Given the description of an element on the screen output the (x, y) to click on. 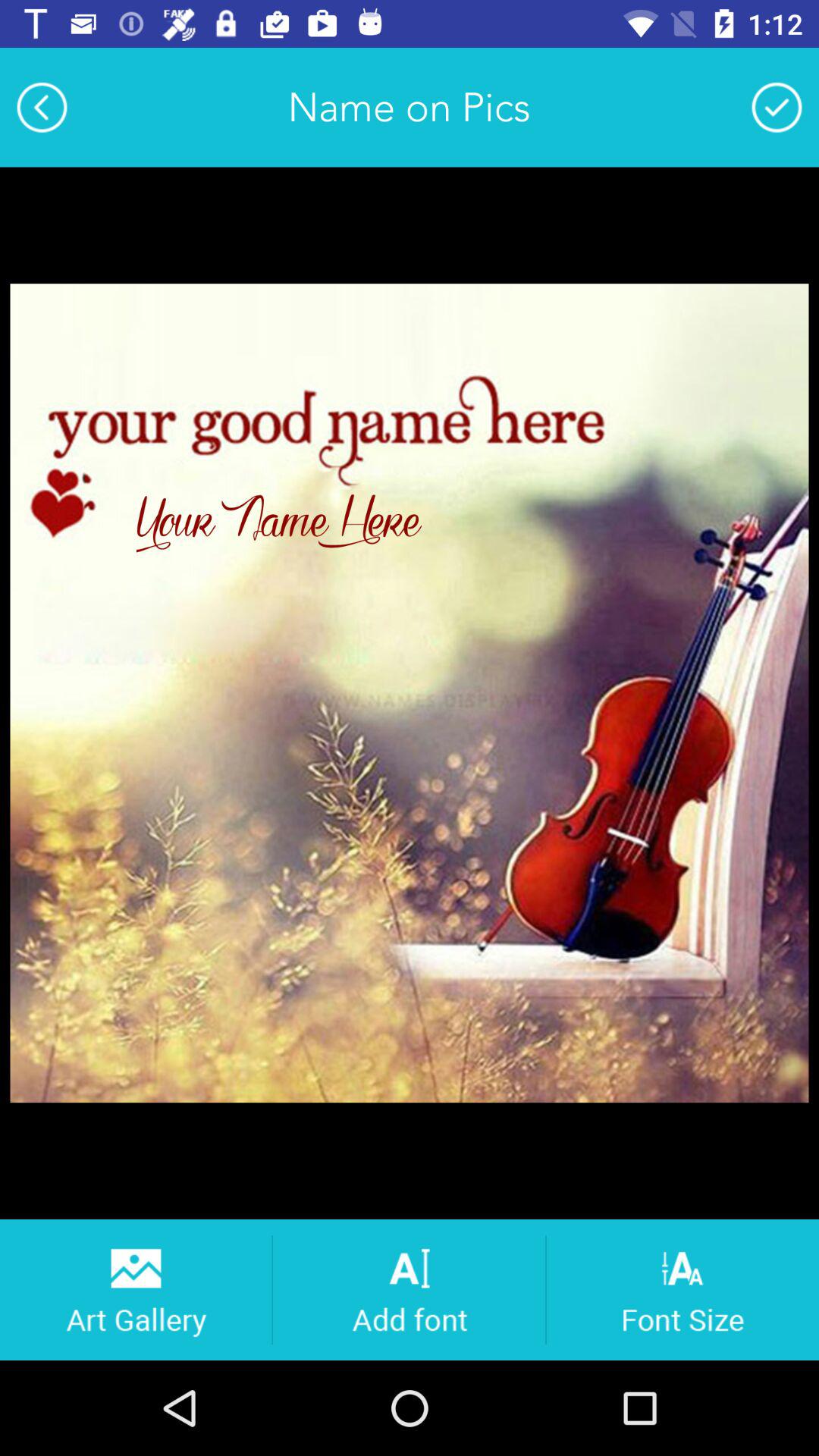
turn on the app next to the name on pics app (776, 107)
